Given the description of an element on the screen output the (x, y) to click on. 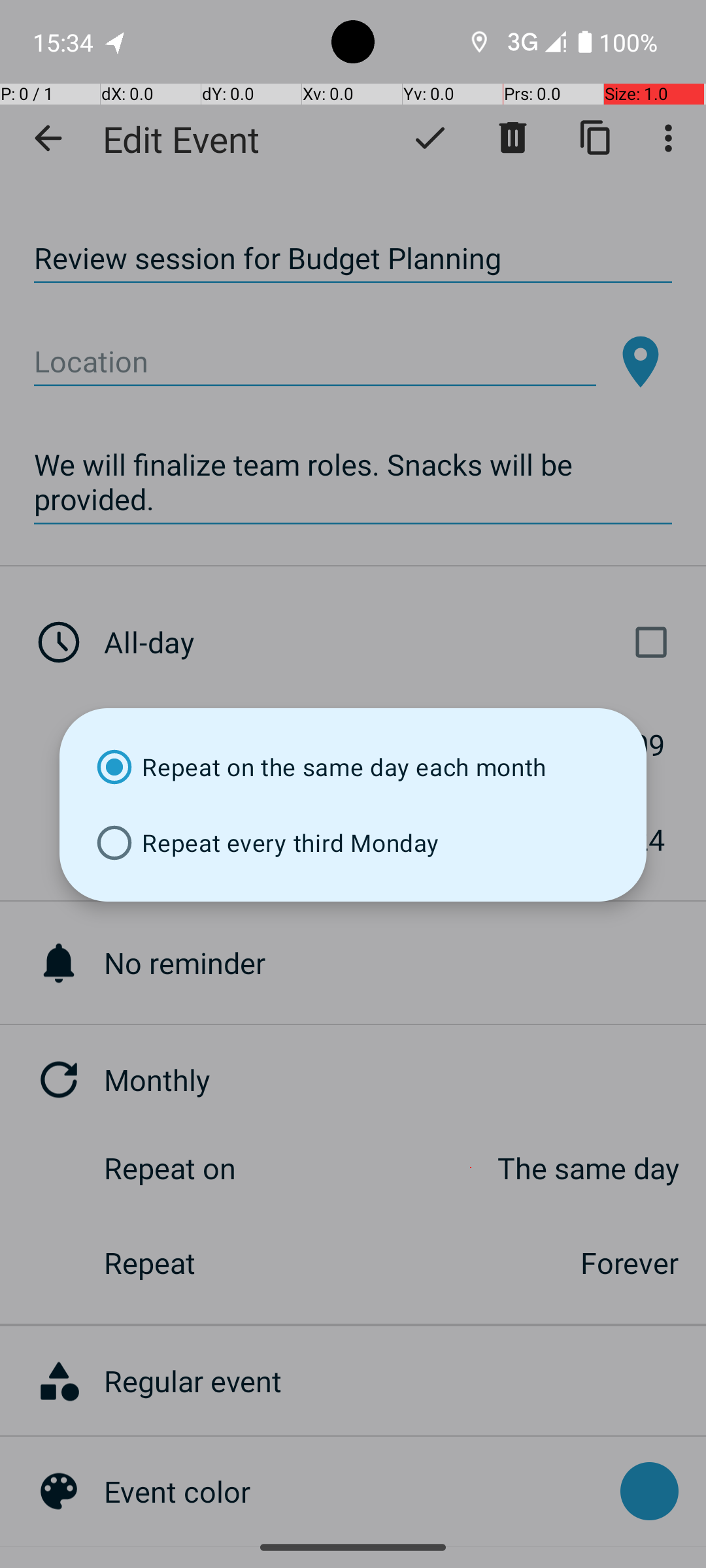
Repeat on the same day each month Element type: android.widget.RadioButton (352, 766)
Repeat every third Monday Element type: android.widget.RadioButton (352, 842)
